Given the description of an element on the screen output the (x, y) to click on. 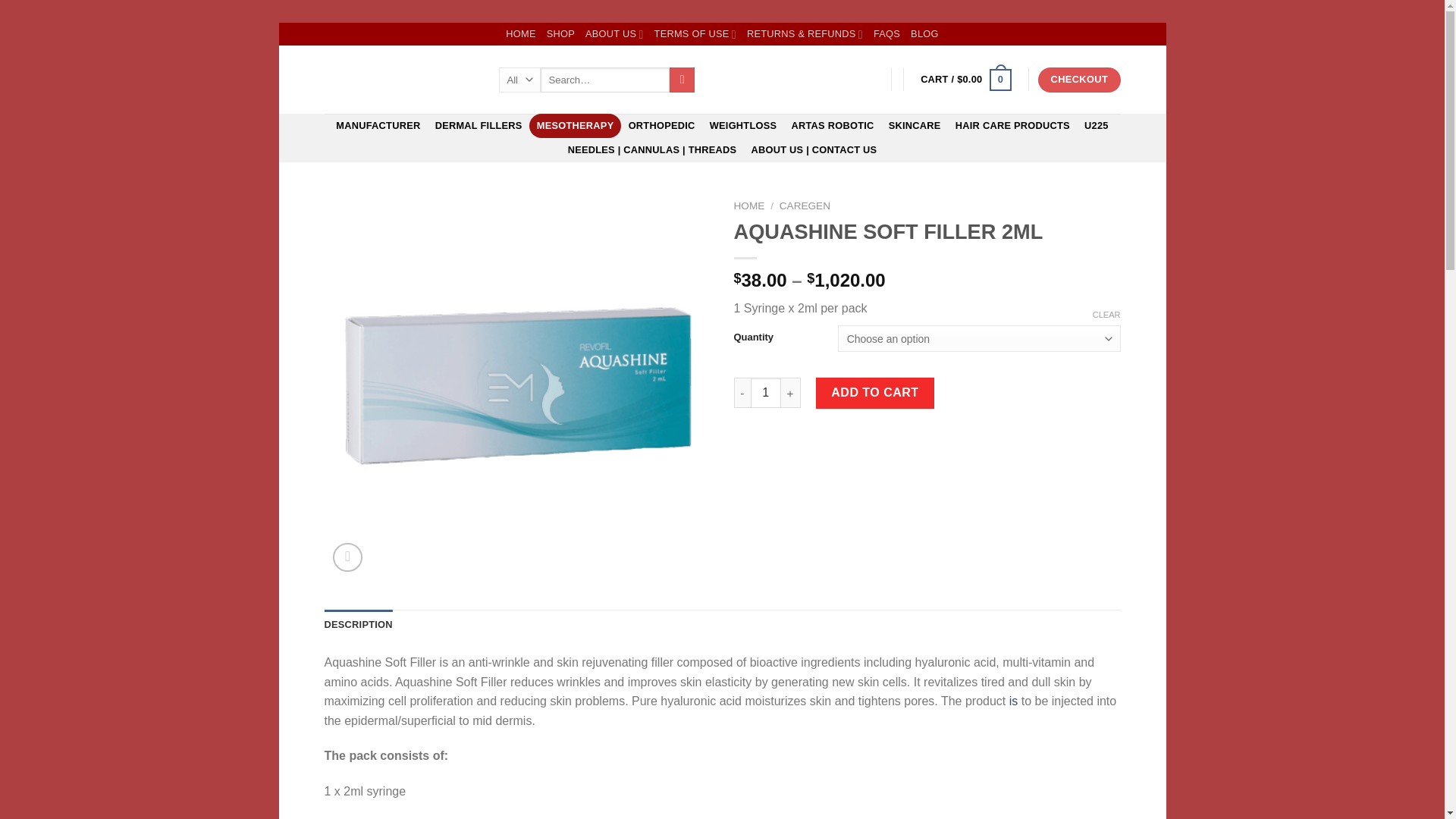
MANUFACTURER (378, 125)
HOME (520, 33)
HOME (749, 205)
ABOUT US (614, 33)
ORTHOPEDIC (661, 125)
SHOP (561, 33)
Qty (765, 392)
ARTAS ROBOTIC (832, 125)
DERMAL FILLERS (478, 125)
TERMS OF USE (694, 33)
MESOTHERAPY (575, 125)
Zoom (347, 557)
FILLER ESSENTIALS - Cosmetic Filler Essential (400, 79)
